Given the description of an element on the screen output the (x, y) to click on. 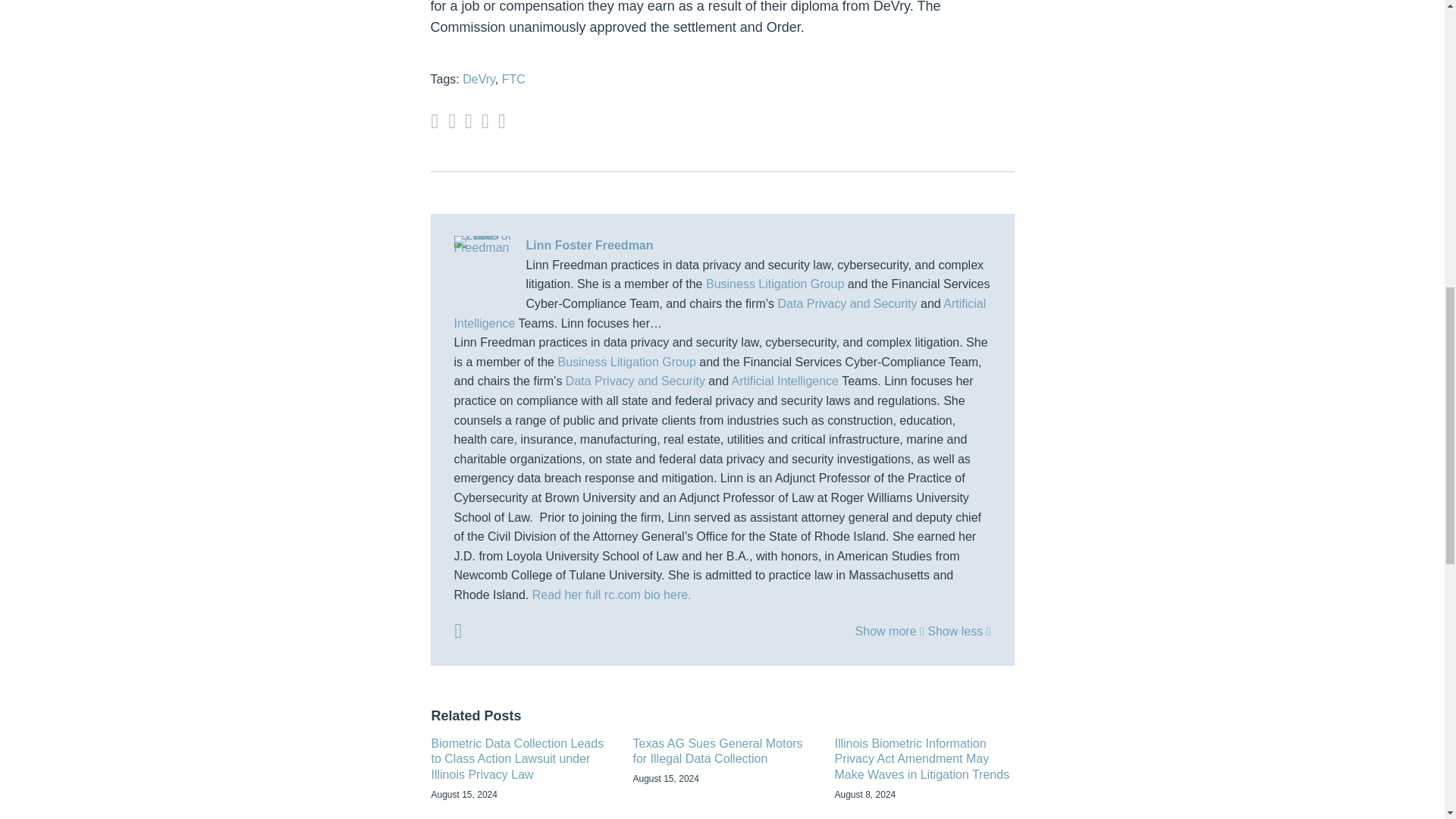
Linn Foster Freedman (721, 245)
DeVry (479, 78)
Data Privacy and Security (847, 303)
Data Privacy and Security (635, 380)
Artificial Intelligence (785, 380)
Business Litigation Group (775, 283)
Read her full rc.com bio here. (611, 594)
Business Litigation Group (626, 361)
Artificial Intelligence (718, 313)
